Given the description of an element on the screen output the (x, y) to click on. 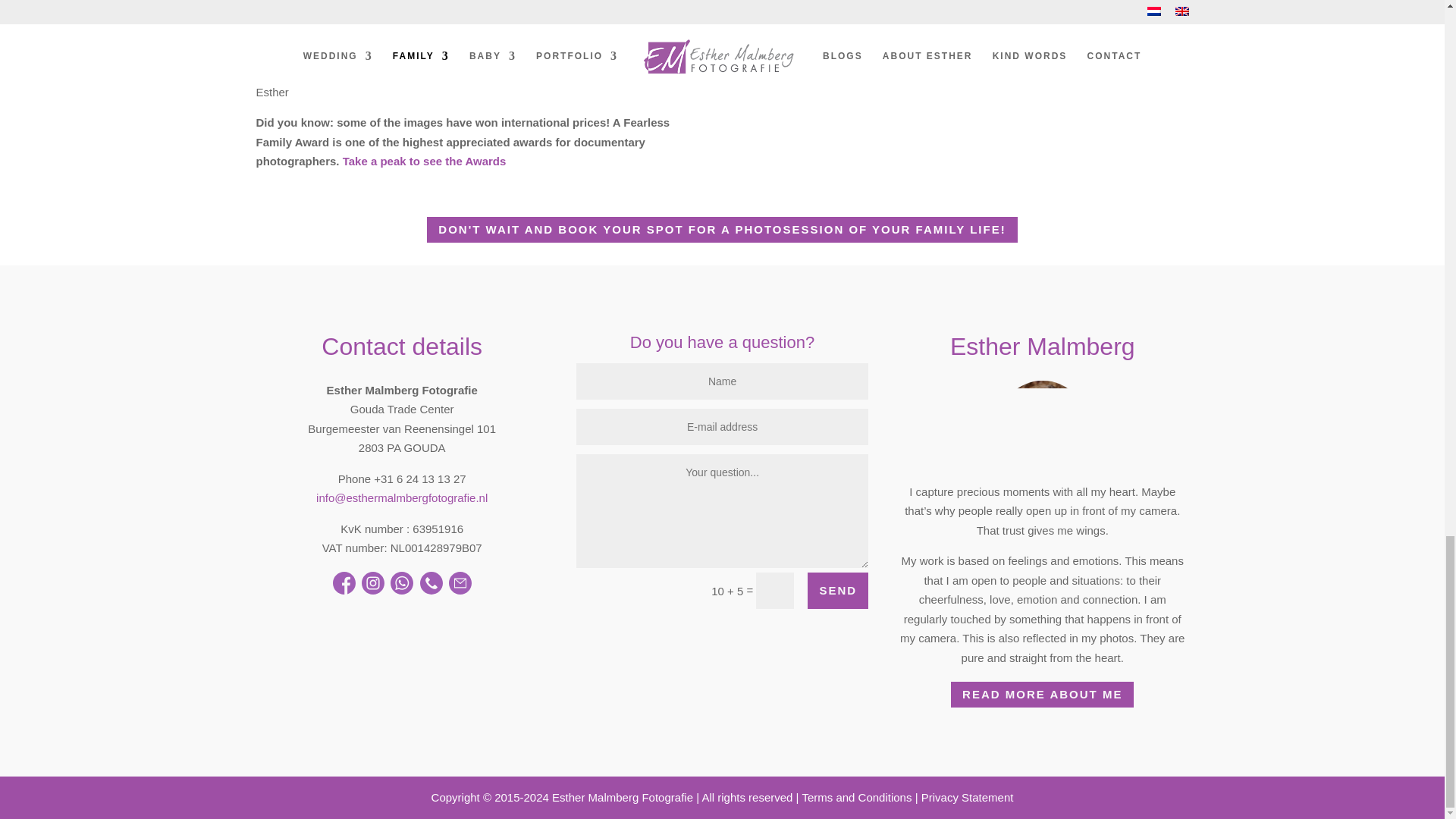
Familiefotograaf-bruidsfotograaf-Gouda-Esther-Malmberg (1042, 424)
